Given the description of an element on the screen output the (x, y) to click on. 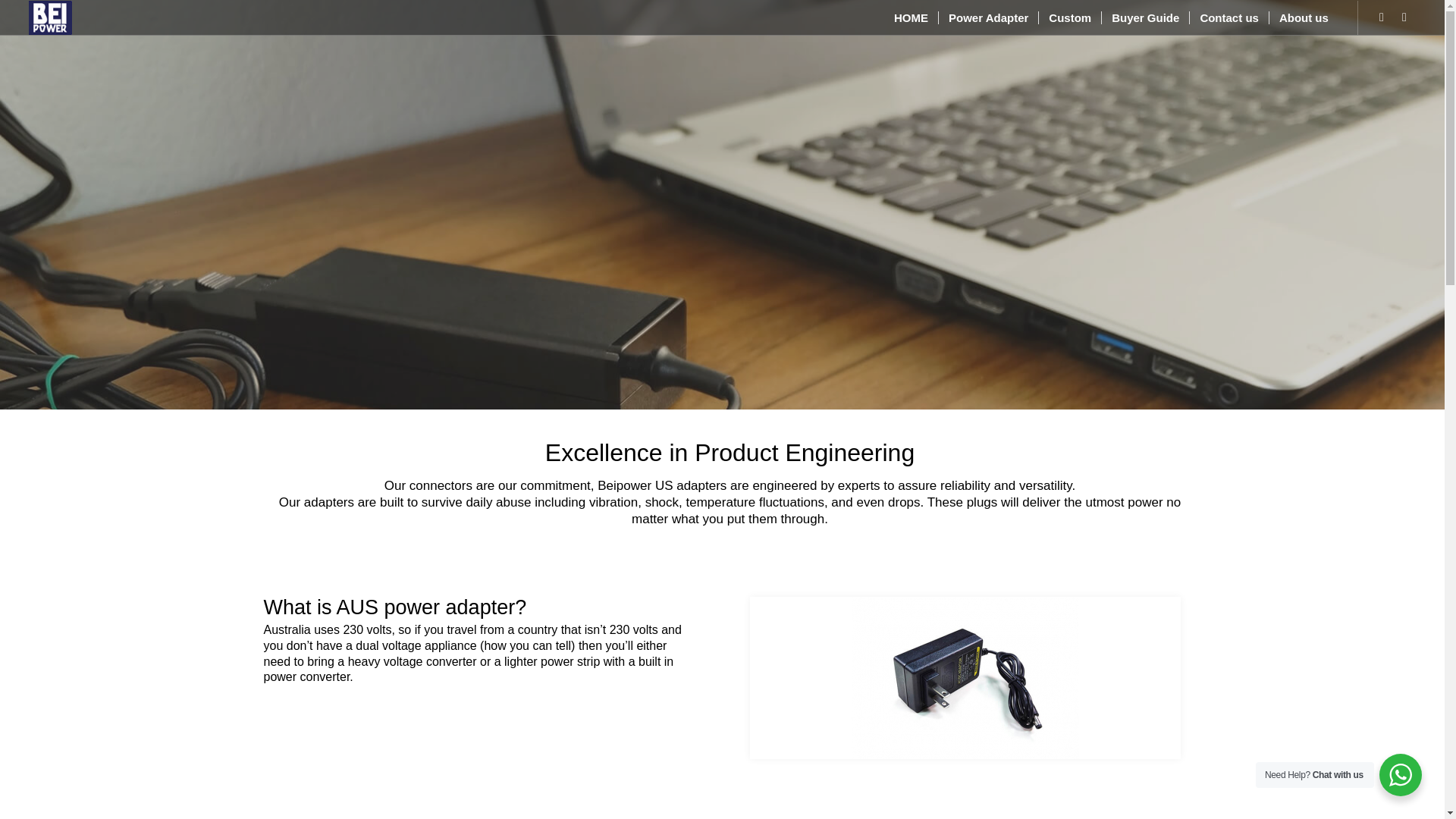
Power Adapter (987, 17)
Custom (1069, 17)
Contact us (1228, 17)
Mail (1404, 16)
About us (1303, 17)
Buyer Guide (1144, 17)
HOME (910, 17)
WhatsApp (1381, 16)
BEI Power Logo (50, 17)
